Given the description of an element on the screen output the (x, y) to click on. 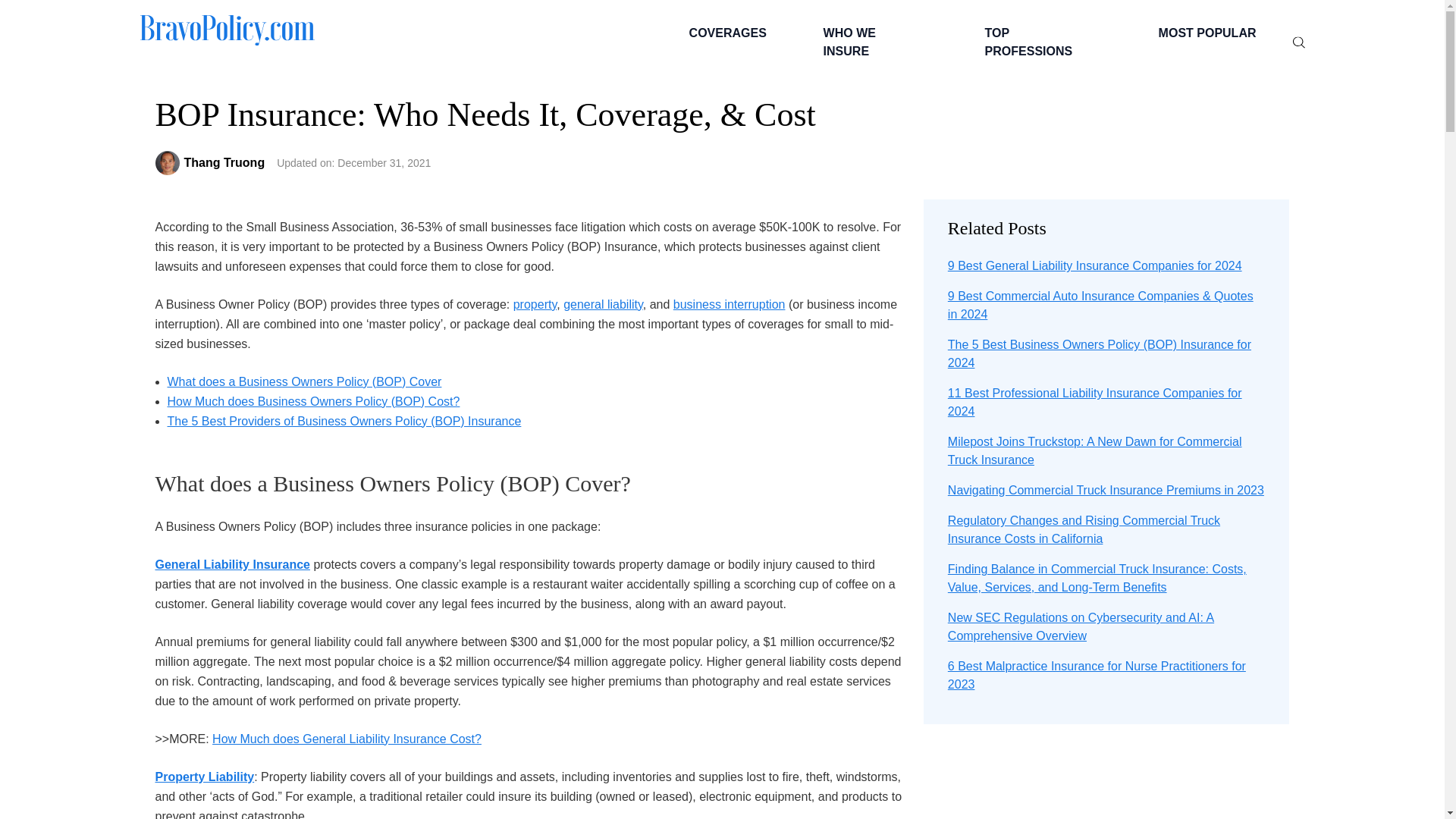
WHO WE INSURE (873, 42)
Navigating Commercial Truck Insurance Premiums in 2023 (1105, 490)
9 Best General Liability Insurance Companies for 2024 (1094, 265)
COVERAGES (725, 33)
11 Best Professional Liability Insurance Companies for 2024 (1094, 401)
